Given the description of an element on the screen output the (x, y) to click on. 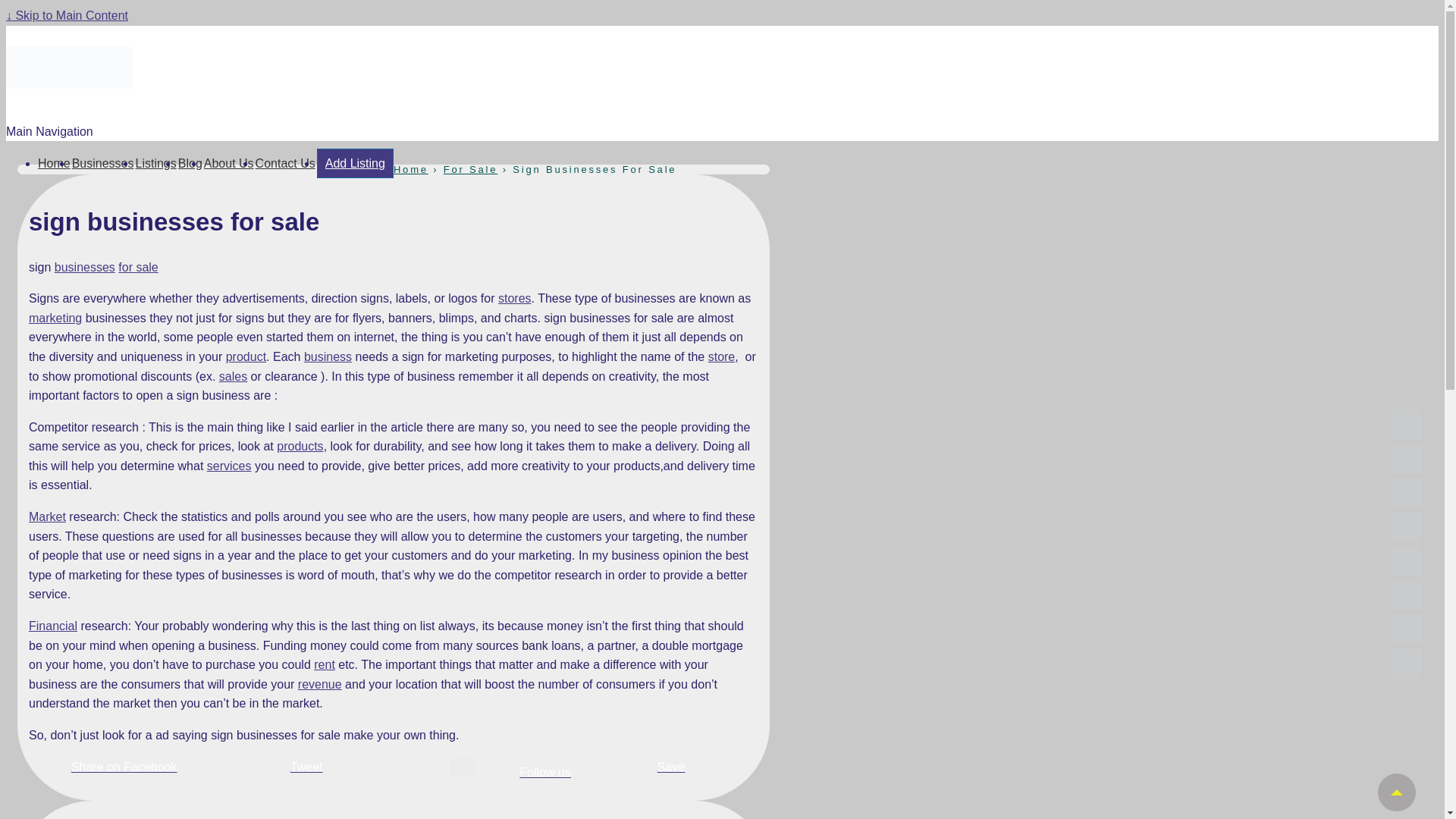
Scroll to Top (1396, 792)
Add Listing (355, 163)
Blog (189, 163)
Facebook (1406, 492)
Home (53, 163)
About Us (228, 163)
for sale (137, 267)
revenue (320, 684)
Top (1396, 792)
cropped business for sale167x100 1 (68, 67)
